Given the description of an element on the screen output the (x, y) to click on. 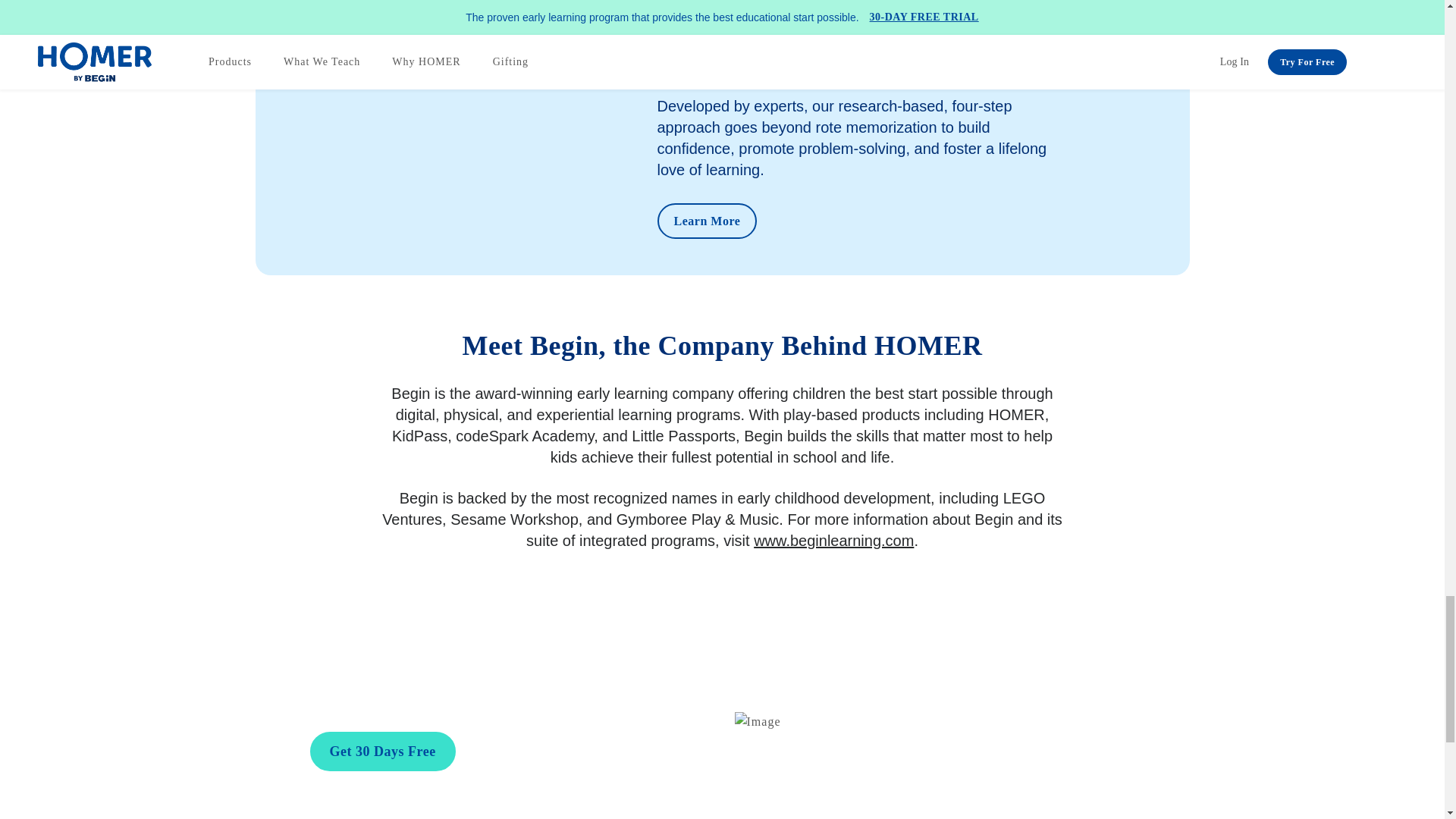
Get 30 Days Free (381, 751)
Learn More (706, 221)
www.beginlearning.com (834, 540)
